Given the description of an element on the screen output the (x, y) to click on. 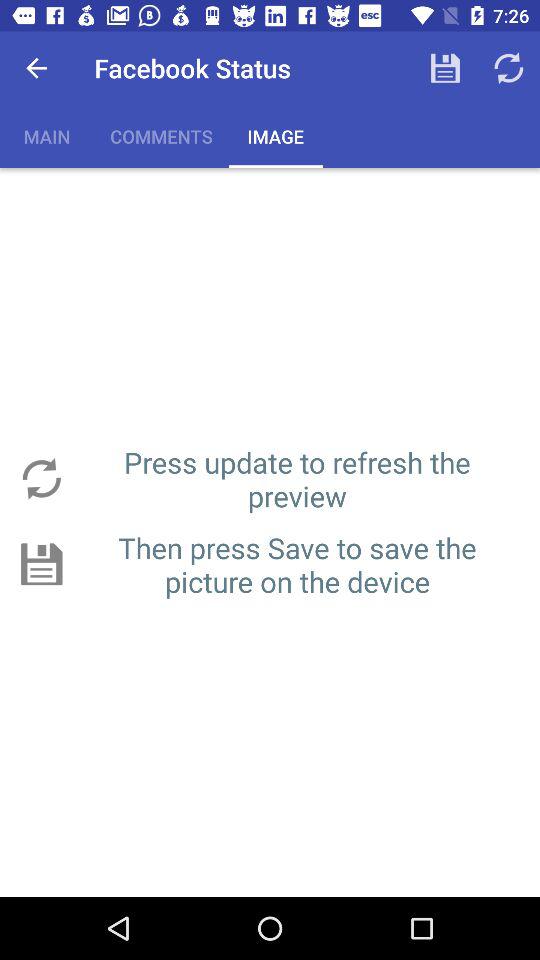
tap app to the left of facebook status (36, 68)
